Given the description of an element on the screen output the (x, y) to click on. 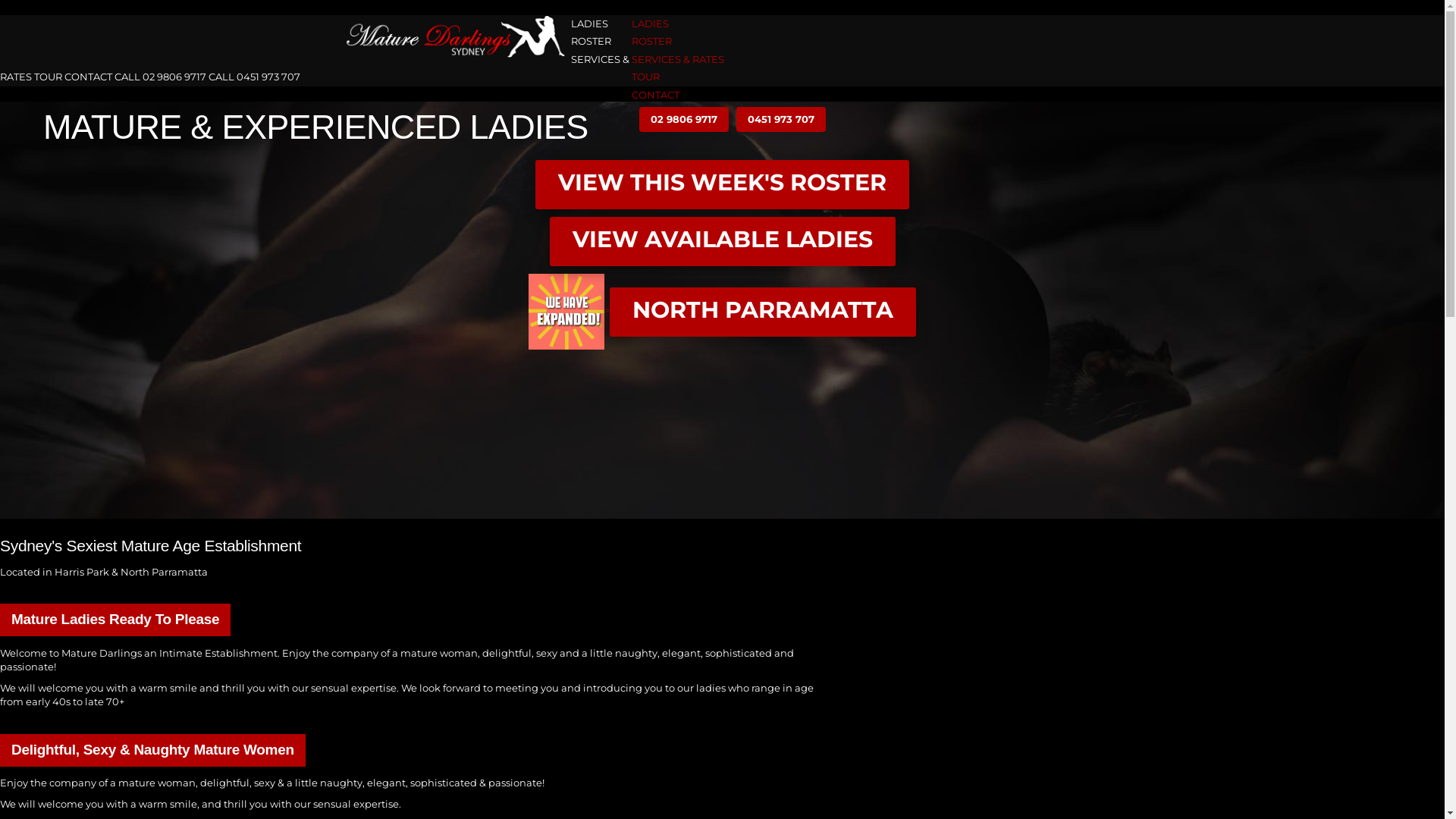
ROSTER Element type: text (650, 40)
CALL 0451 973 707 Element type: text (254, 76)
0451 973 707 Element type: text (780, 118)
LADIES Element type: text (649, 23)
02 9806 9717 Element type: text (683, 118)
0451 973 707 Element type: text (772, 118)
NORTH PARRAMATTA Element type: text (762, 311)
02 9806 9717 Element type: text (675, 118)
CONTACT Element type: text (654, 94)
CALL 02 9806 9717 Element type: text (160, 76)
TOUR Element type: text (48, 76)
SERVICES & RATES Element type: text (314, 67)
VIEW AVAILABLE LADIES Element type: text (721, 240)
LADIES Element type: text (588, 23)
SERVICES & RATES Element type: text (676, 59)
CONTACT Element type: text (88, 76)
>NORTH PARRAMATTA Element type: text (722, 310)
VIEW THIS WEEK'S ROSTER Element type: text (722, 183)
ROSTER Element type: text (590, 40)
VIEW THIS WEEK'S ROSTER Element type: text (722, 184)
TOUR Element type: text (644, 76)
VIEW AVAILABLE LADIES Element type: text (721, 241)
